Given the description of an element on the screen output the (x, y) to click on. 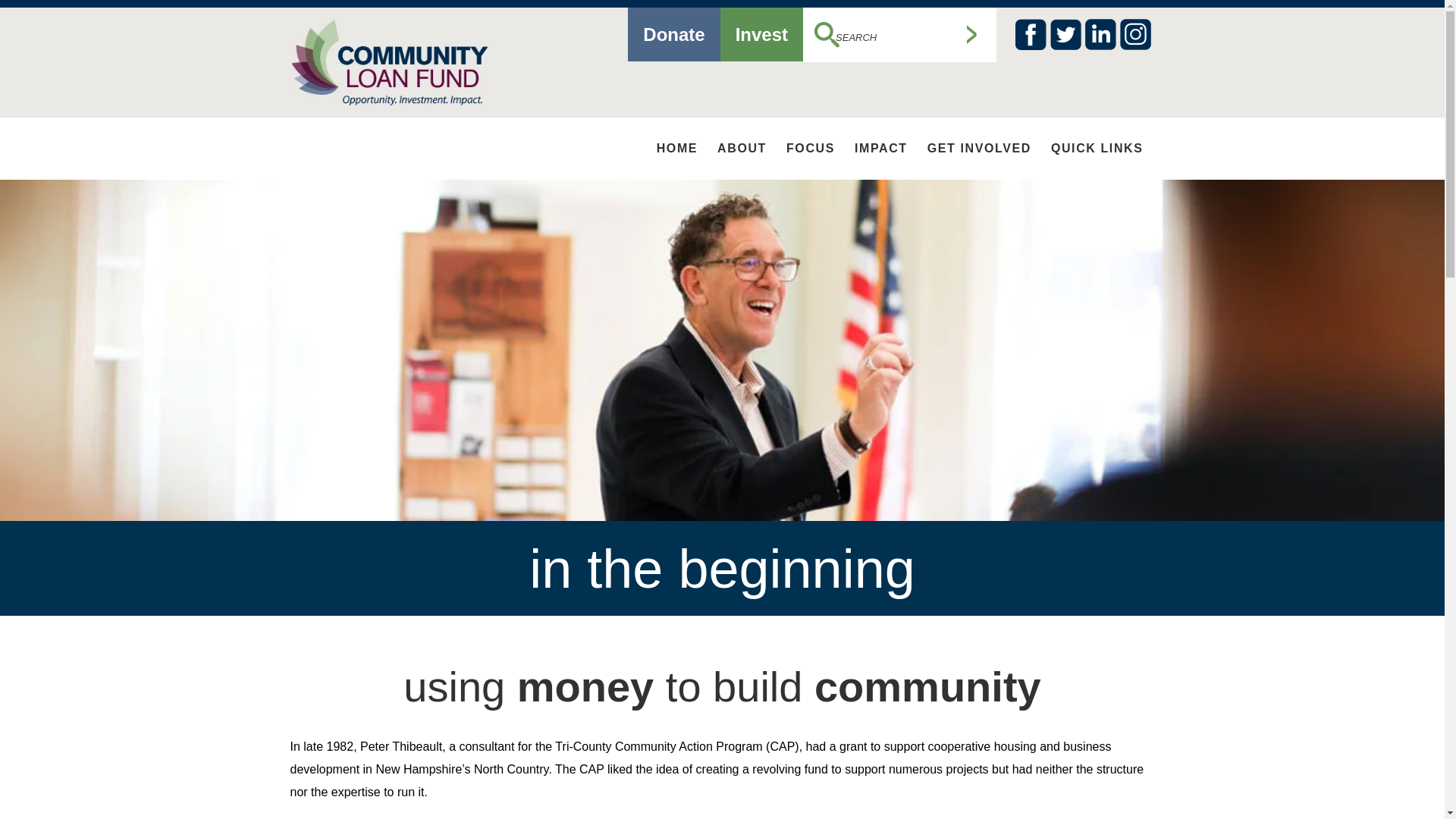
Search for: (898, 34)
searchkeywords (887, 38)
Facebook (1029, 34)
Donate (673, 34)
Invest (761, 34)
Instagram (1134, 34)
QUICK LINKS (1096, 148)
GET INVOLVED (978, 148)
Invest (761, 34)
Donate (673, 34)
LinkedIn (1099, 34)
Twitter (1064, 34)
